Given the description of an element on the screen output the (x, y) to click on. 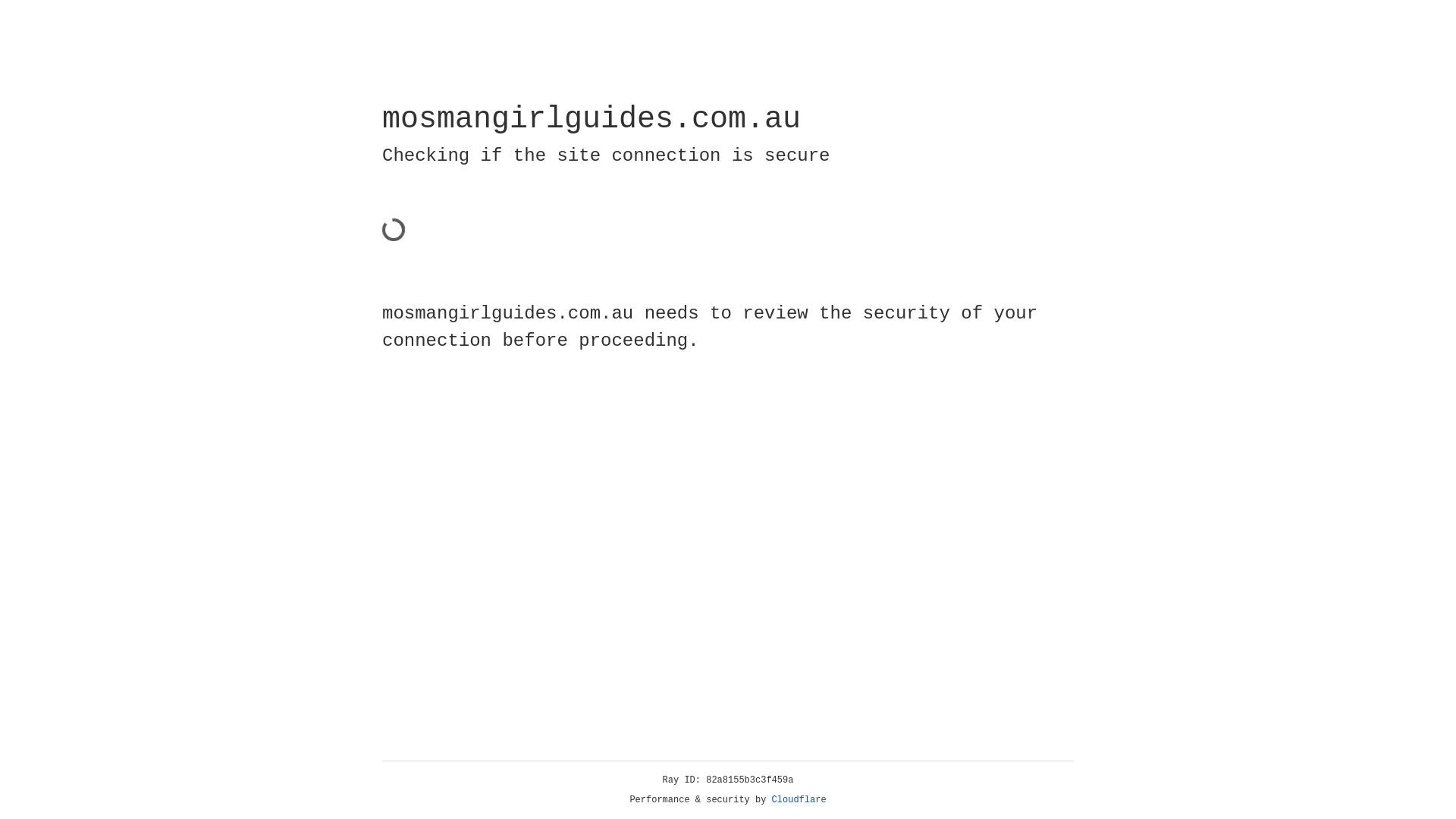
Cloudflare Element type: text (798, 799)
